Given the description of an element on the screen output the (x, y) to click on. 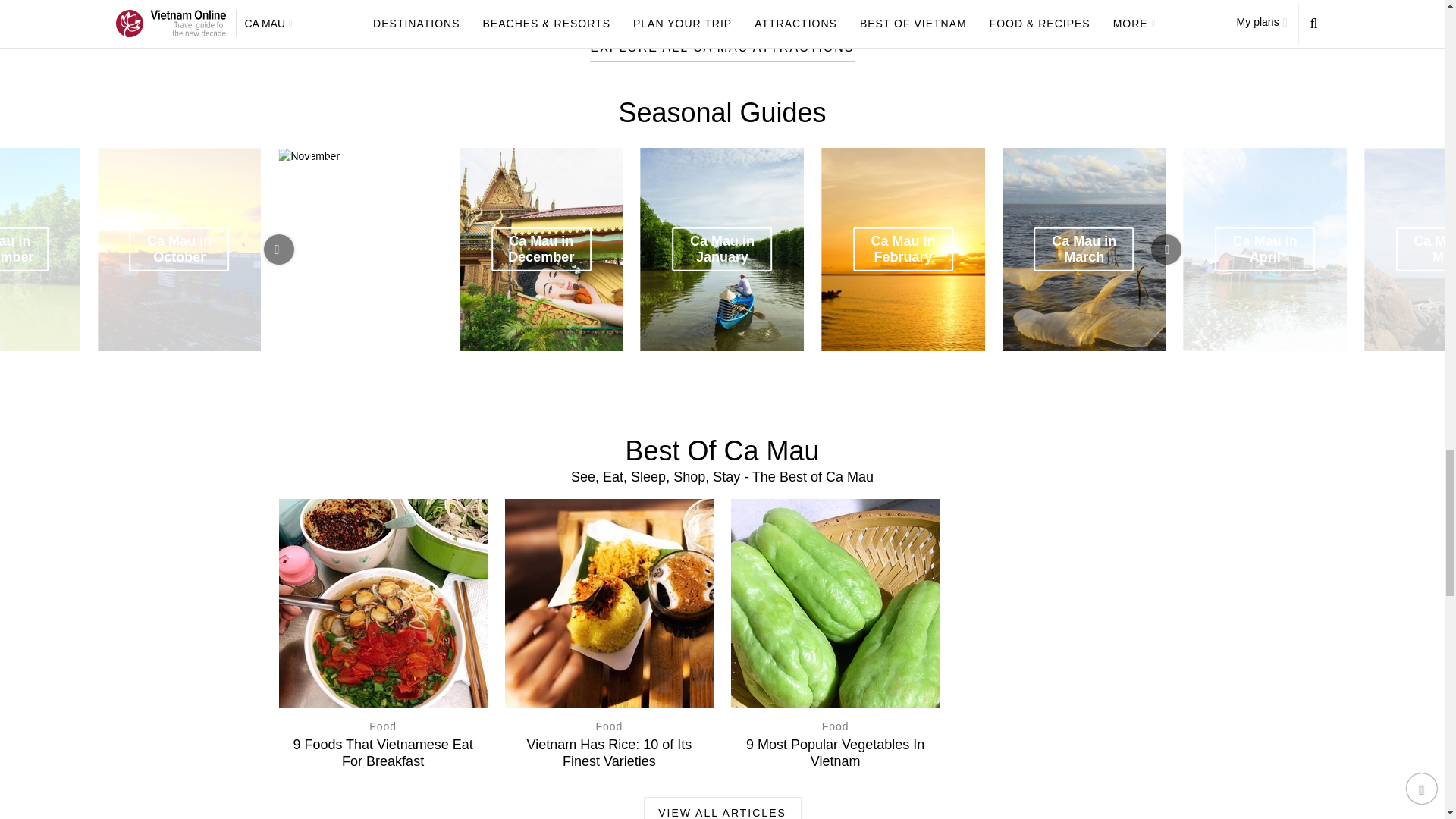
City Bird Garden (389, 11)
The Cape of Ca Mau (610, 11)
Hon Khoai Island (833, 11)
EXPLORE ALL CA MAU ATTRACTIONS (721, 48)
